Given the description of an element on the screen output the (x, y) to click on. 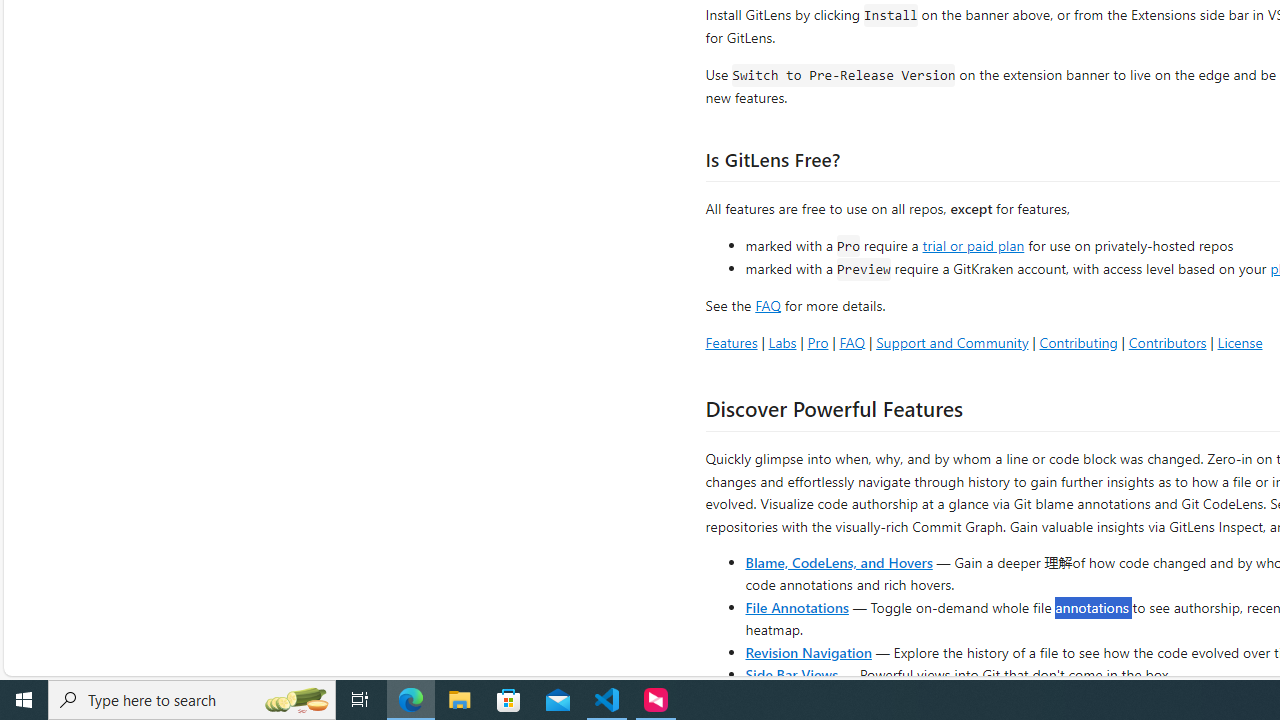
Contributors (1167, 341)
License (1240, 341)
Pro (817, 341)
File Annotations (796, 606)
Features (731, 341)
Labs (782, 341)
Side Bar Views (791, 673)
Contributing (1078, 341)
Support and Community (952, 341)
Revision Navigation (807, 651)
Blame, CodeLens, and Hovers (838, 561)
FAQ (852, 341)
trial or paid plan (973, 244)
